Given the description of an element on the screen output the (x, y) to click on. 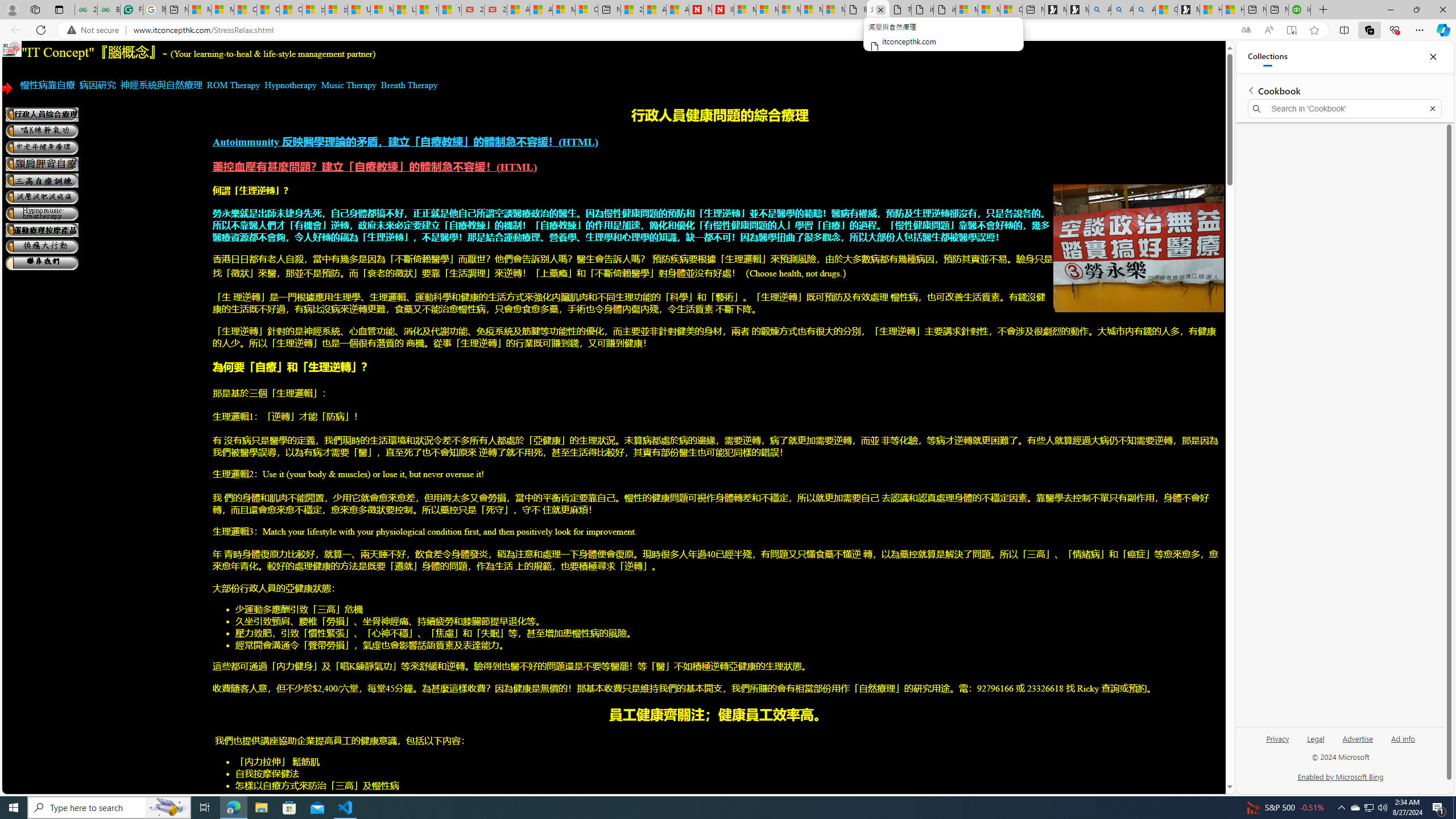
Illness news & latest pictures from Newsweek.com (722, 9)
How to Use a TV as a Computer Monitor (1233, 9)
Consumer Health Data Privacy Policy (1010, 9)
Alabama high school quarterback dies - Search Videos (1144, 9)
